Given the description of an element on the screen output the (x, y) to click on. 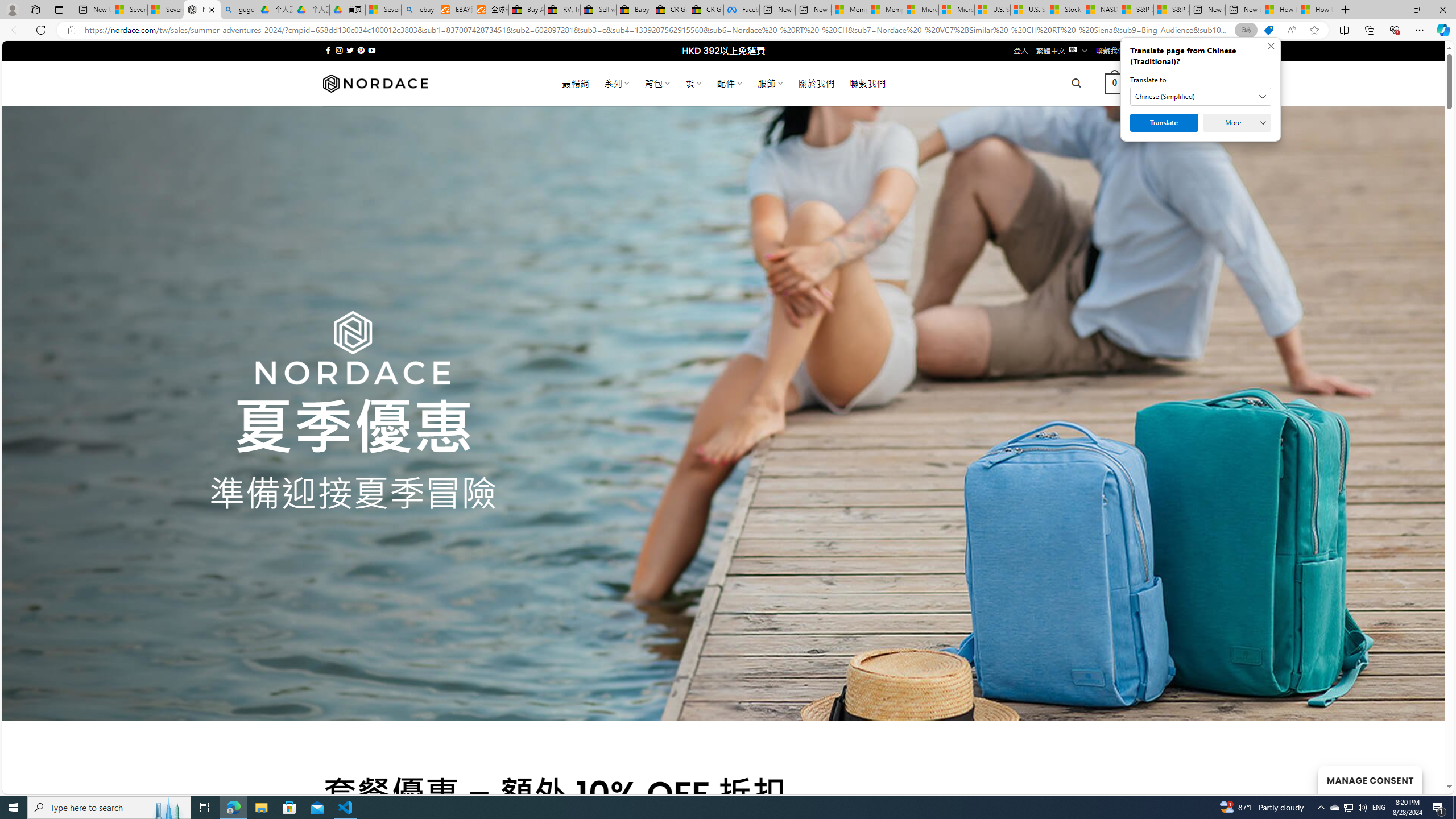
Show translate options (1245, 29)
Back (13, 29)
  0   (1115, 83)
Follow on Instagram (338, 50)
Workspaces (34, 9)
Add this page to favorites (Ctrl+D) (1314, 29)
More (1236, 122)
